Given the description of an element on the screen output the (x, y) to click on. 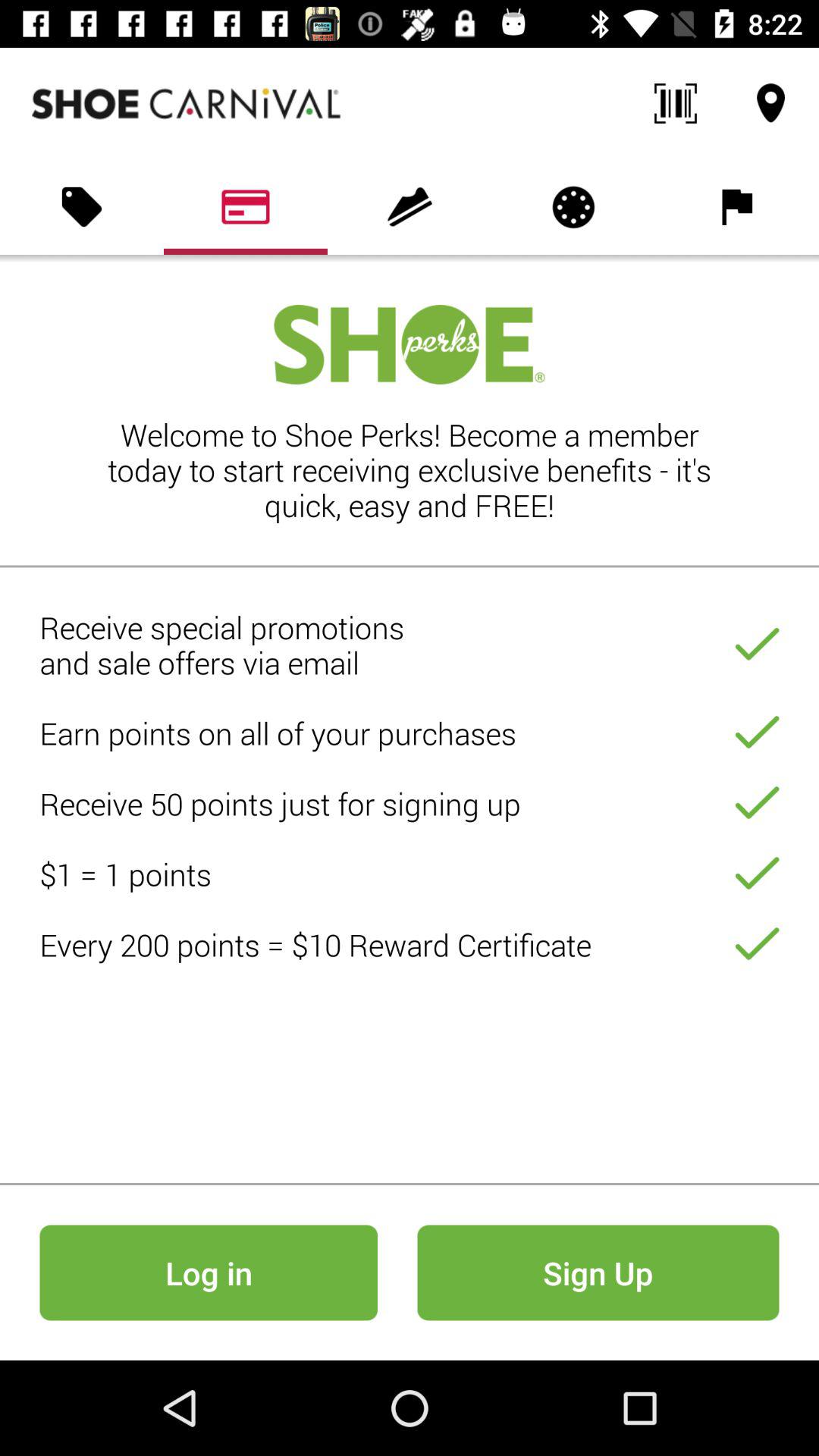
click icon to the left of sign up icon (208, 1272)
